Given the description of an element on the screen output the (x, y) to click on. 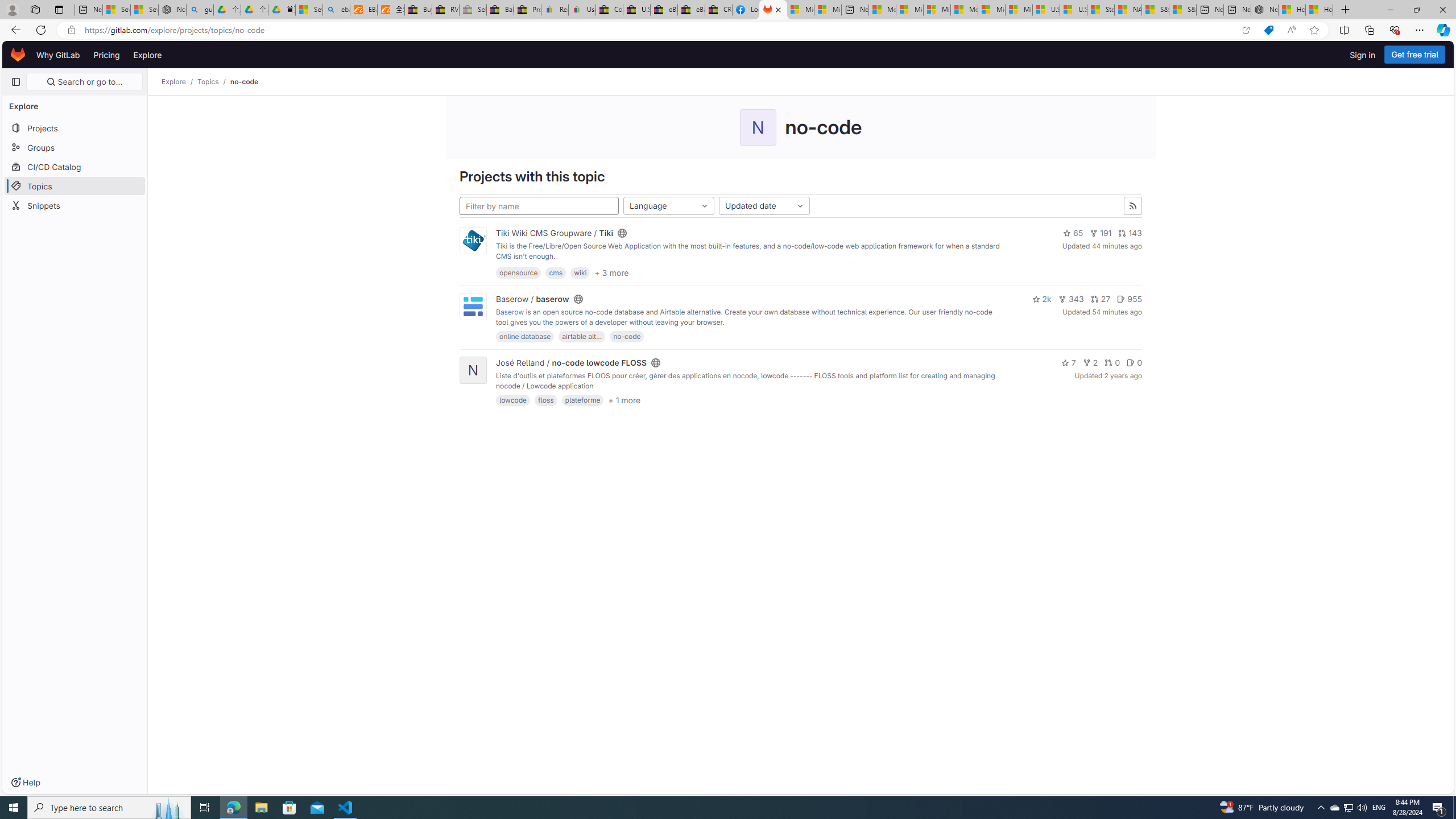
+ 1 more (624, 399)
191 (1100, 232)
online database (524, 336)
Shopping in Microsoft Edge (1268, 29)
U.S. State Privacy Disclosures - eBay Inc. (636, 9)
Tiki Wiki CMS Groupware / Tiki (554, 232)
143 (1129, 232)
Groups (74, 147)
Class: s16 gl-icon gl-button-icon  (1132, 206)
